Given the description of an element on the screen output the (x, y) to click on. 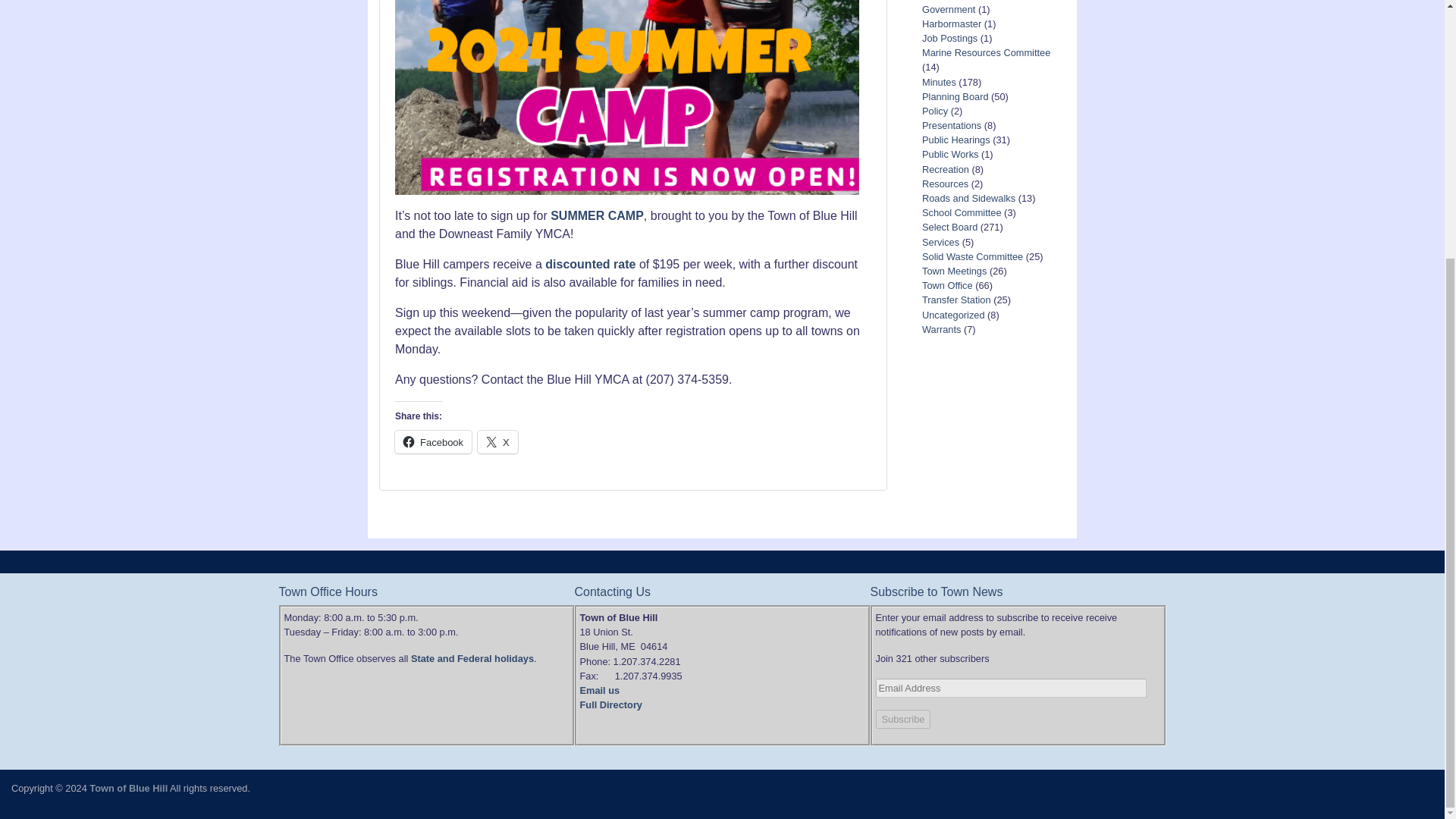
Click to share on Facebook (432, 441)
Click to share on X (497, 441)
Subscribe (902, 719)
